Given the description of an element on the screen output the (x, y) to click on. 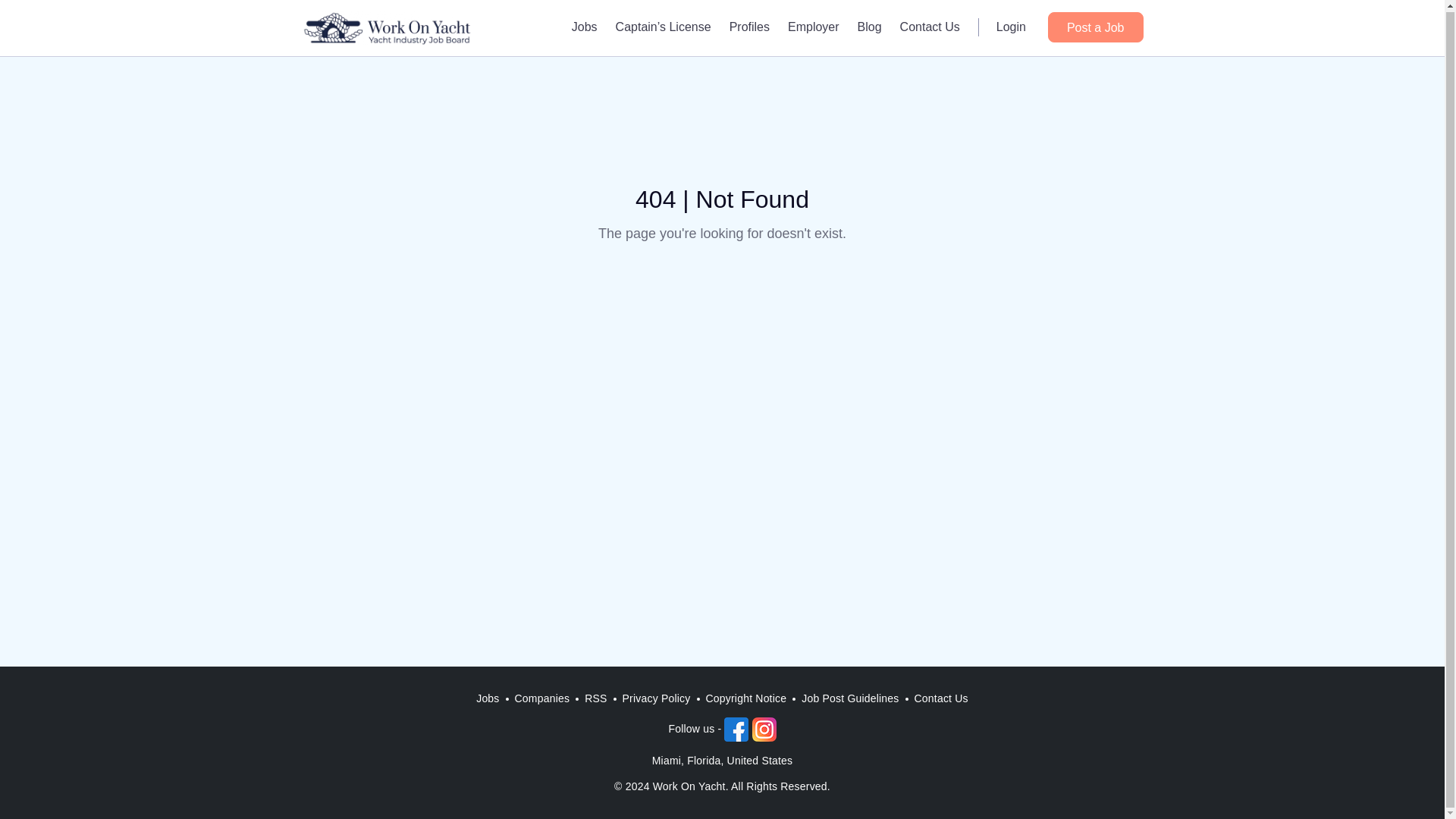
Contact Us (941, 698)
Jobs (487, 698)
Copyright Notice (746, 698)
Blog (869, 25)
Login (1011, 25)
Post a Job (1095, 26)
Contact Us (930, 25)
Employer (813, 25)
RSS (595, 698)
Companies (542, 698)
Privacy Policy (656, 698)
Job Post Guidelines (849, 698)
Profiles (749, 25)
Jobs (584, 25)
